Given the description of an element on the screen output the (x, y) to click on. 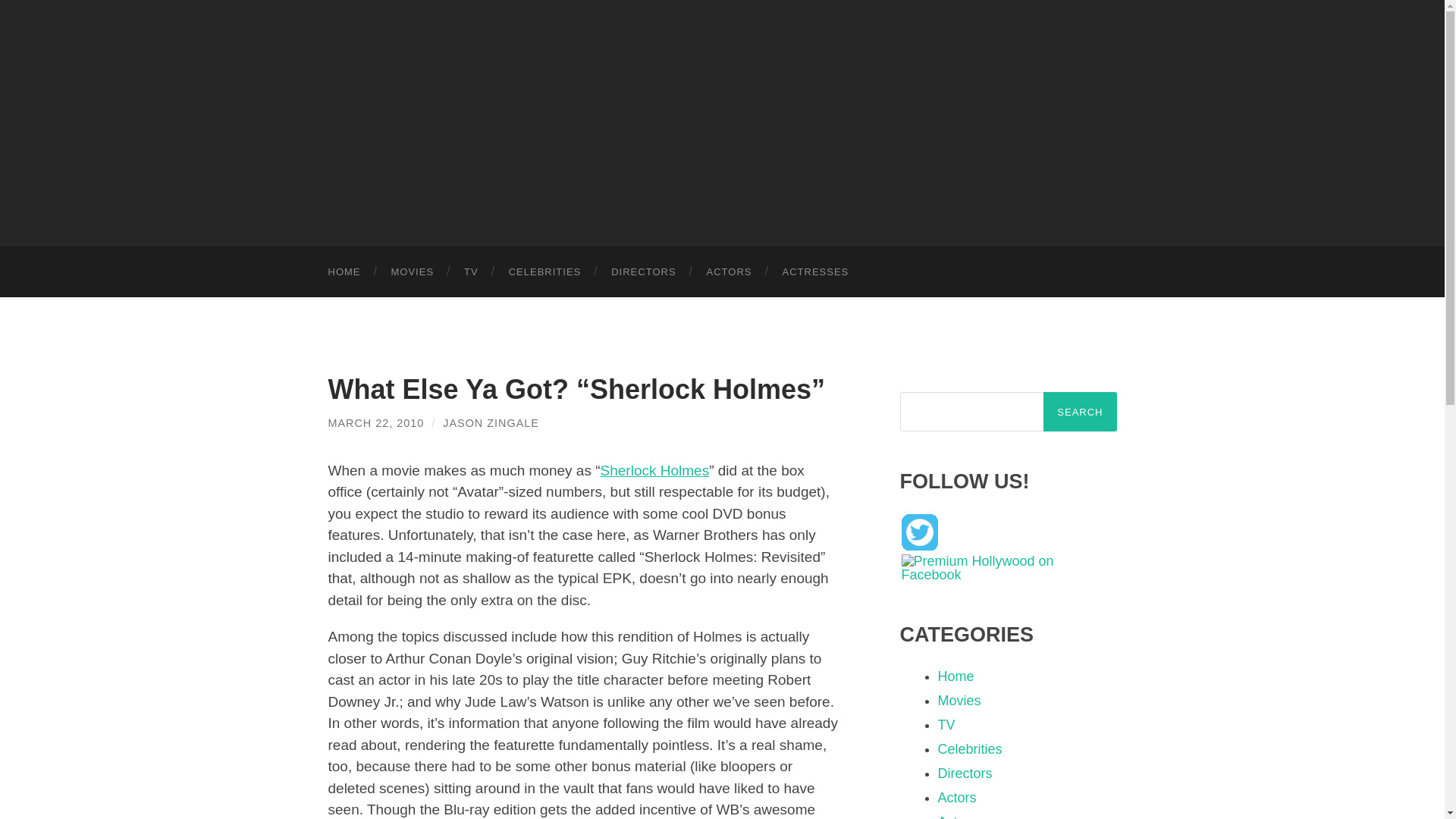
Sherlock Holmes (654, 470)
DIRECTORS (642, 271)
Movies (958, 700)
CELEBRITIES (544, 271)
Home (955, 676)
HOME (344, 271)
ACTORS (729, 271)
ACTRESSES (815, 271)
Search (1079, 411)
Search (1079, 411)
